Given the description of an element on the screen output the (x, y) to click on. 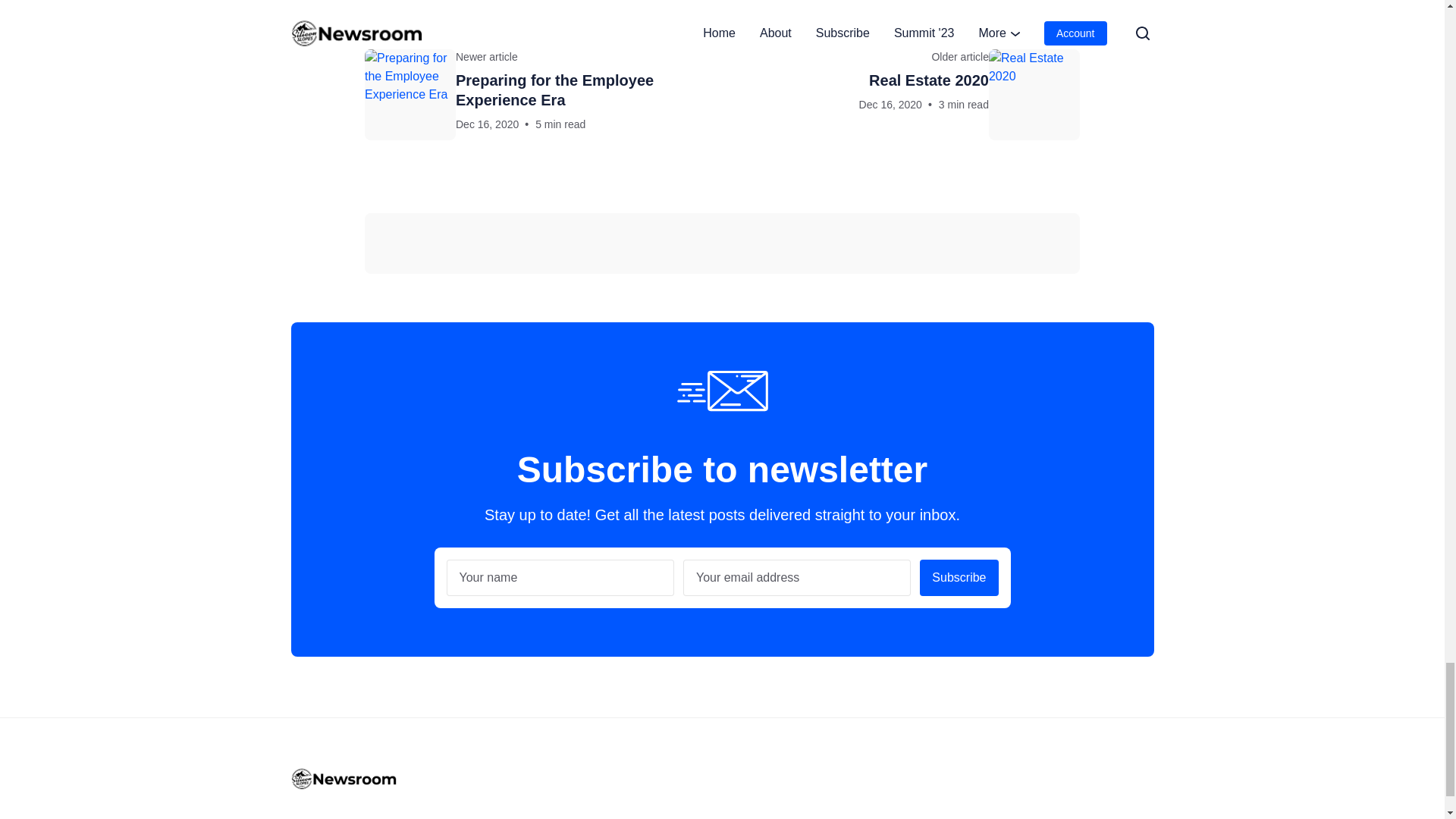
Subscribe (905, 94)
